Given the description of an element on the screen output the (x, y) to click on. 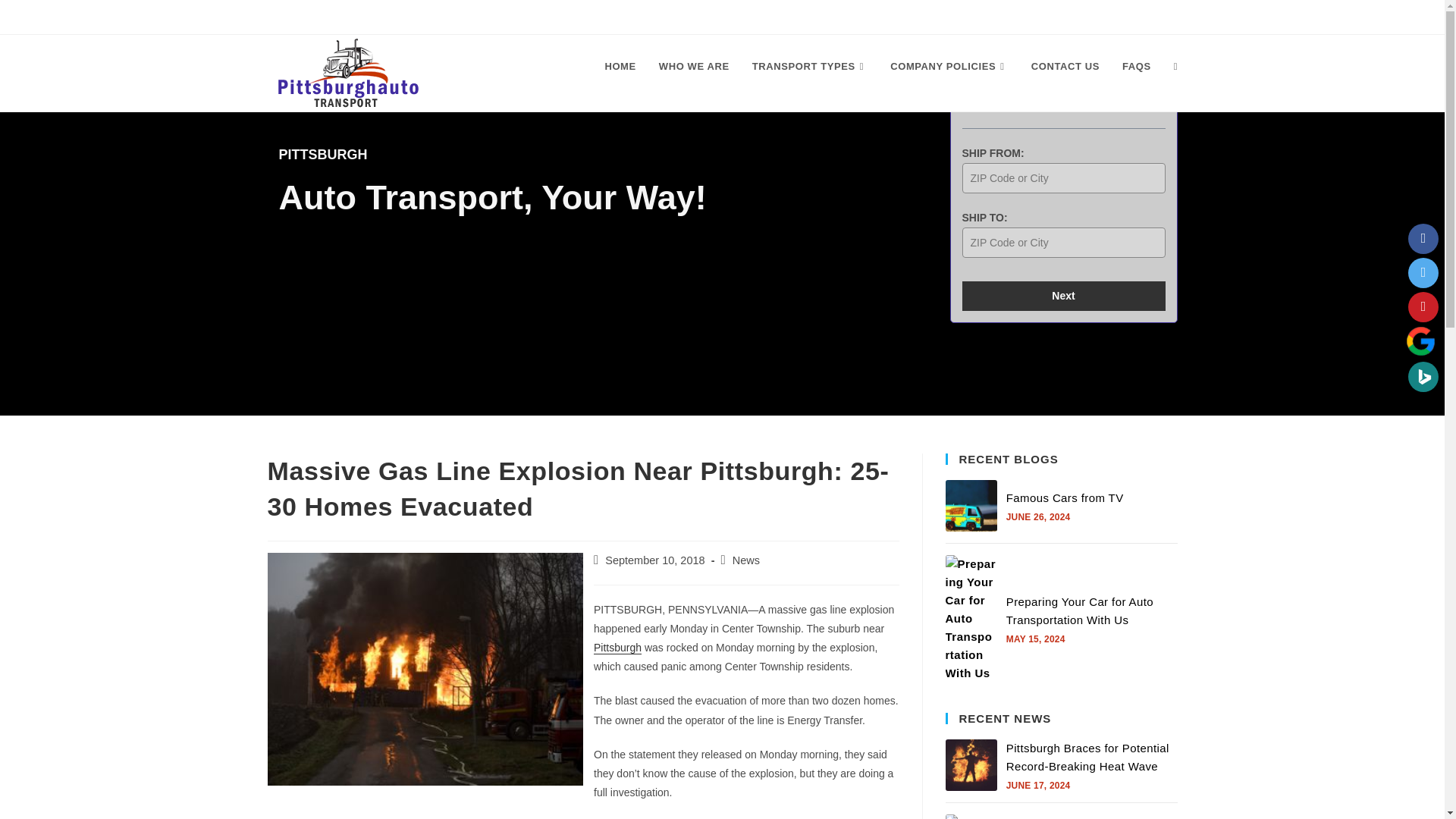
Opioid Settlement Money A Matter Of Public Concern (969, 816)
Famous Cars from TV (969, 505)
CONTACT US (1065, 66)
Enter a location (1062, 177)
TRANSPORT TYPES (810, 66)
WHO WE ARE (694, 66)
Pittsburgh Braces for Potential Record-Breaking Heat Wave (969, 765)
News (746, 560)
Next (1062, 296)
COMPANY POLICIES (949, 66)
HOME (619, 66)
Google Reviews (1420, 340)
Pennsylvania Auto Transport (712, 16)
Pittsburgh (618, 647)
Enter a location (1062, 242)
